Given the description of an element on the screen output the (x, y) to click on. 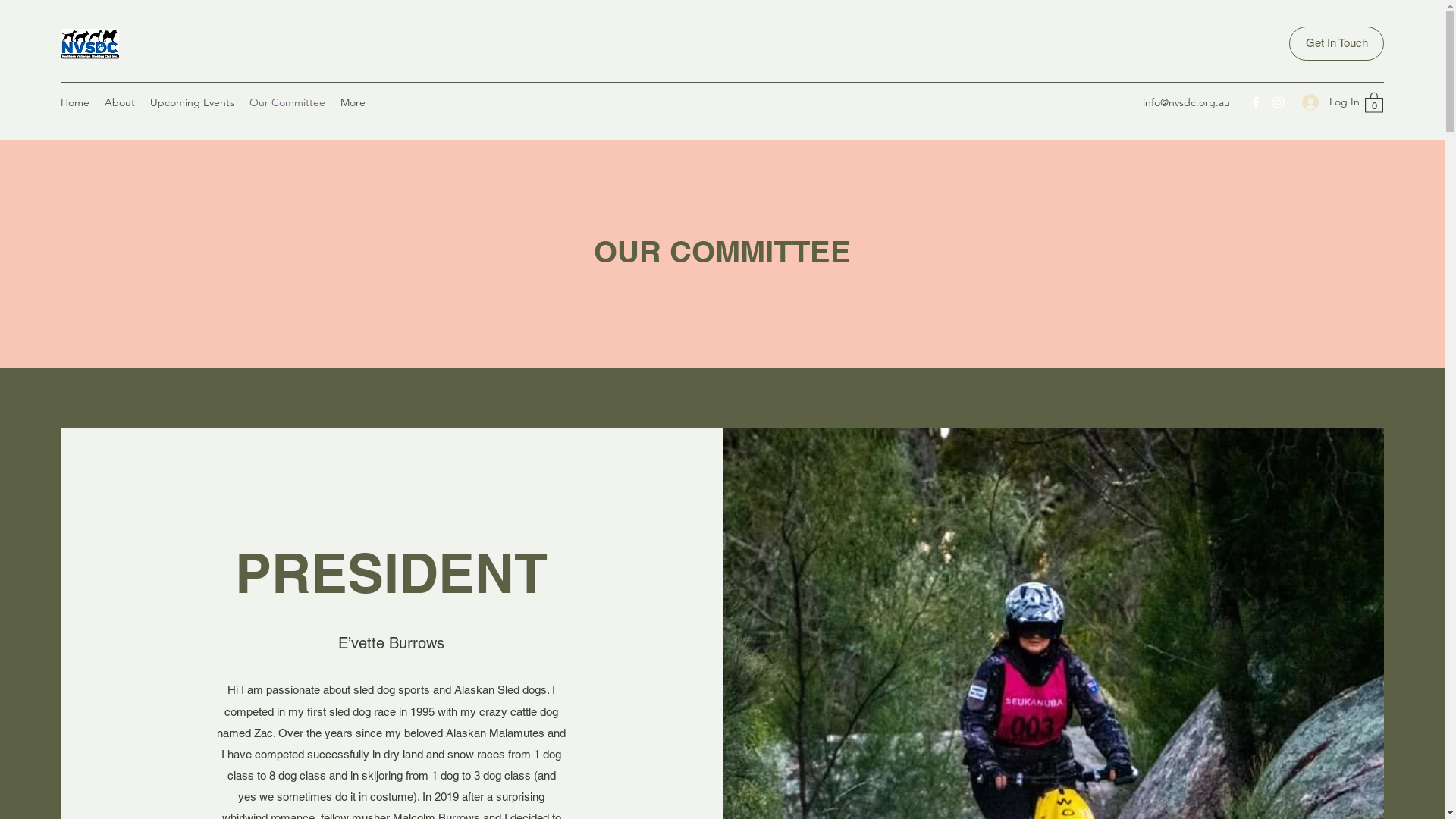
0 Element type: text (1374, 101)
Get In Touch Element type: text (1336, 43)
Home Element type: text (75, 102)
info@nvsdc.org.au Element type: text (1186, 102)
Log In Element type: text (1325, 101)
Upcoming Events Element type: text (191, 102)
Our Committee Element type: text (286, 102)
About Element type: text (119, 102)
